Given the description of an element on the screen output the (x, y) to click on. 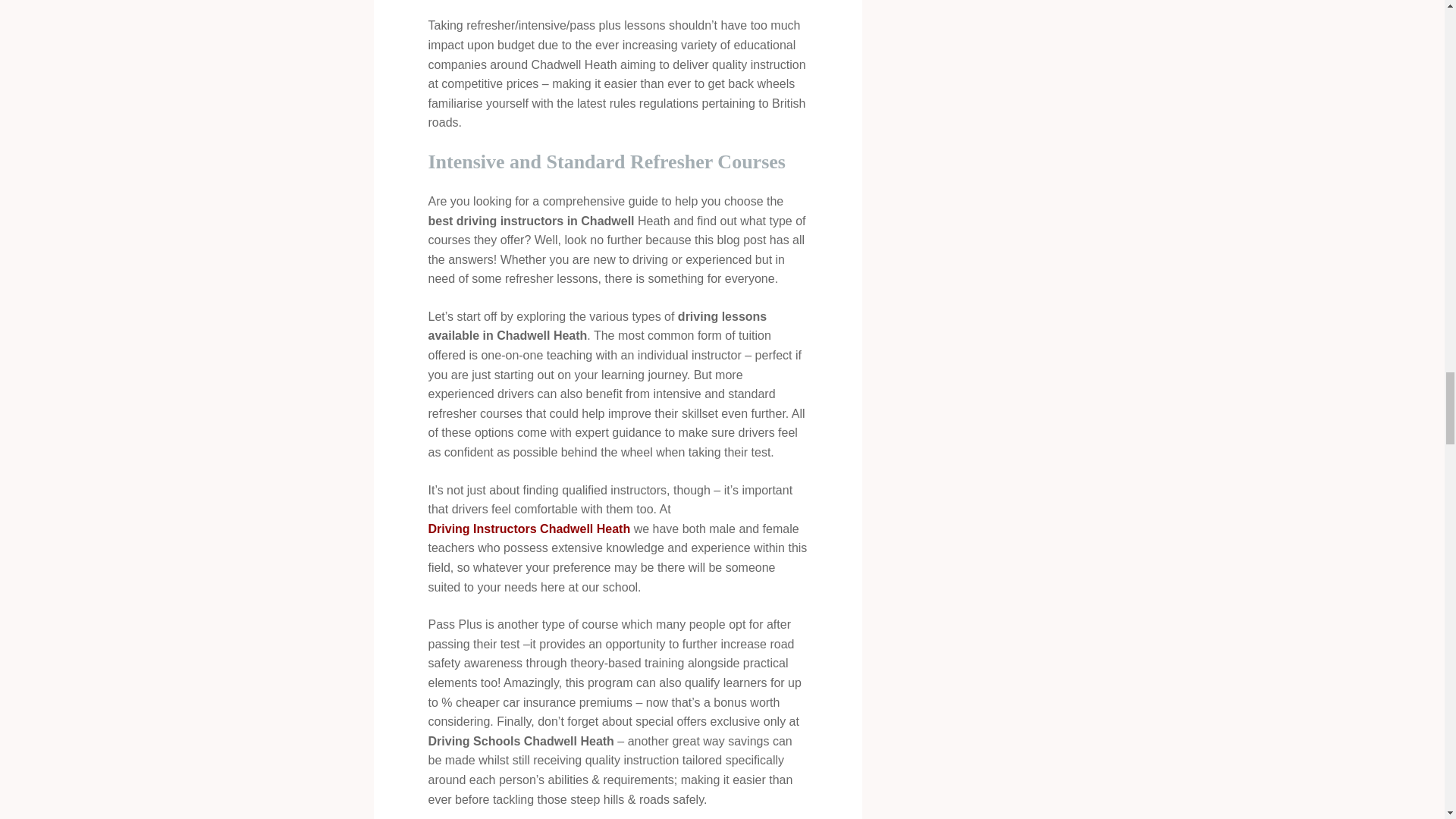
Driving Instructors Chadwell Heath (529, 528)
